Given the description of an element on the screen output the (x, y) to click on. 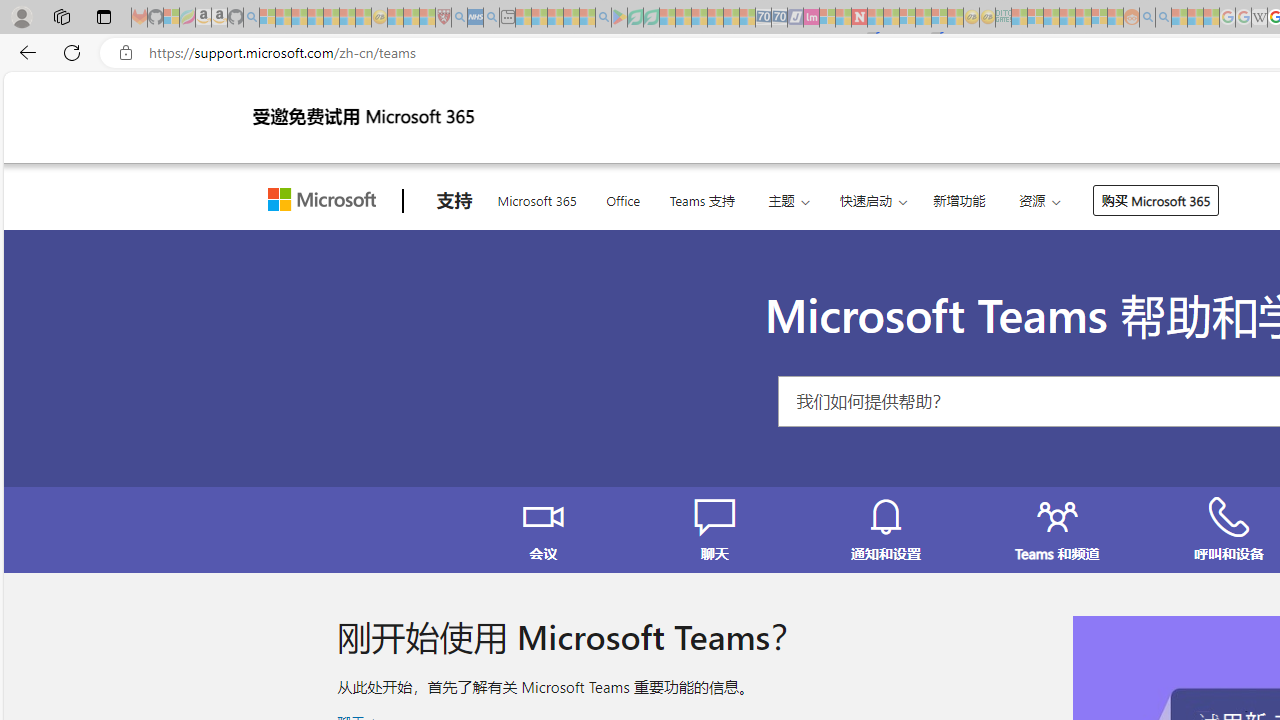
New Report Confirms 2023 Was Record Hot | Watch - Sleeping (331, 17)
Target page - Wikipedia - Sleeping (1259, 17)
New tab - Sleeping (507, 17)
Latest Politics News & Archive | Newsweek.com - Sleeping (859, 17)
Tab actions menu (104, 16)
Office (623, 198)
